Given the description of an element on the screen output the (x, y) to click on. 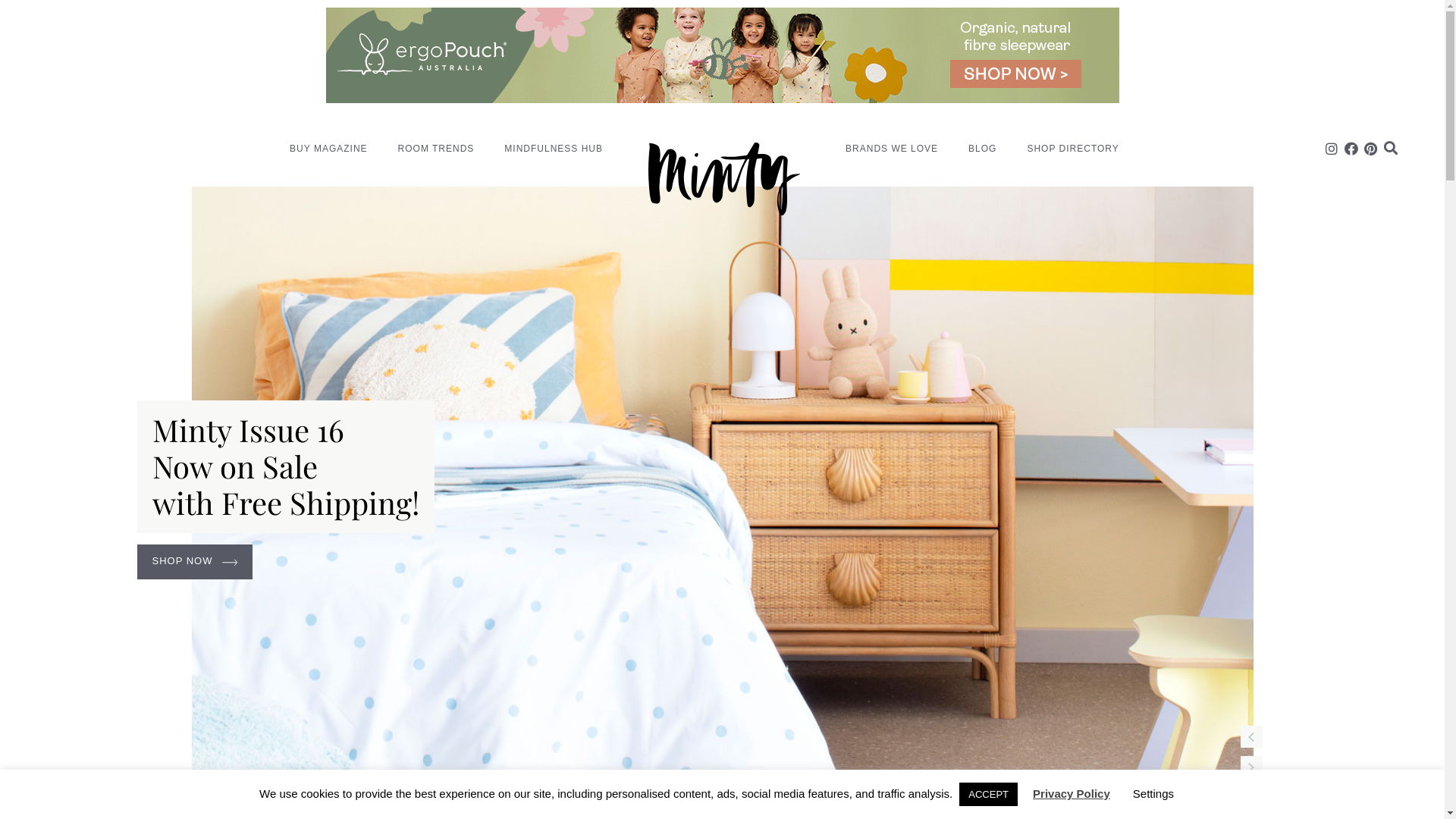
BUY MAGAZINE Element type: text (328, 148)
SHOP NOW Element type: text (193, 561)
BRANDS WE LOVE Element type: text (891, 148)
SHOP DIRECTORY Element type: text (1072, 148)
ACCEPT Element type: text (988, 794)
BLOG Element type: text (982, 148)
ROOM TRENDS Element type: text (436, 148)
Privacy Policy Element type: text (1071, 793)
Settings Element type: text (1152, 793)
MINDFULNESS HUB Element type: text (553, 148)
